Given the description of an element on the screen output the (x, y) to click on. 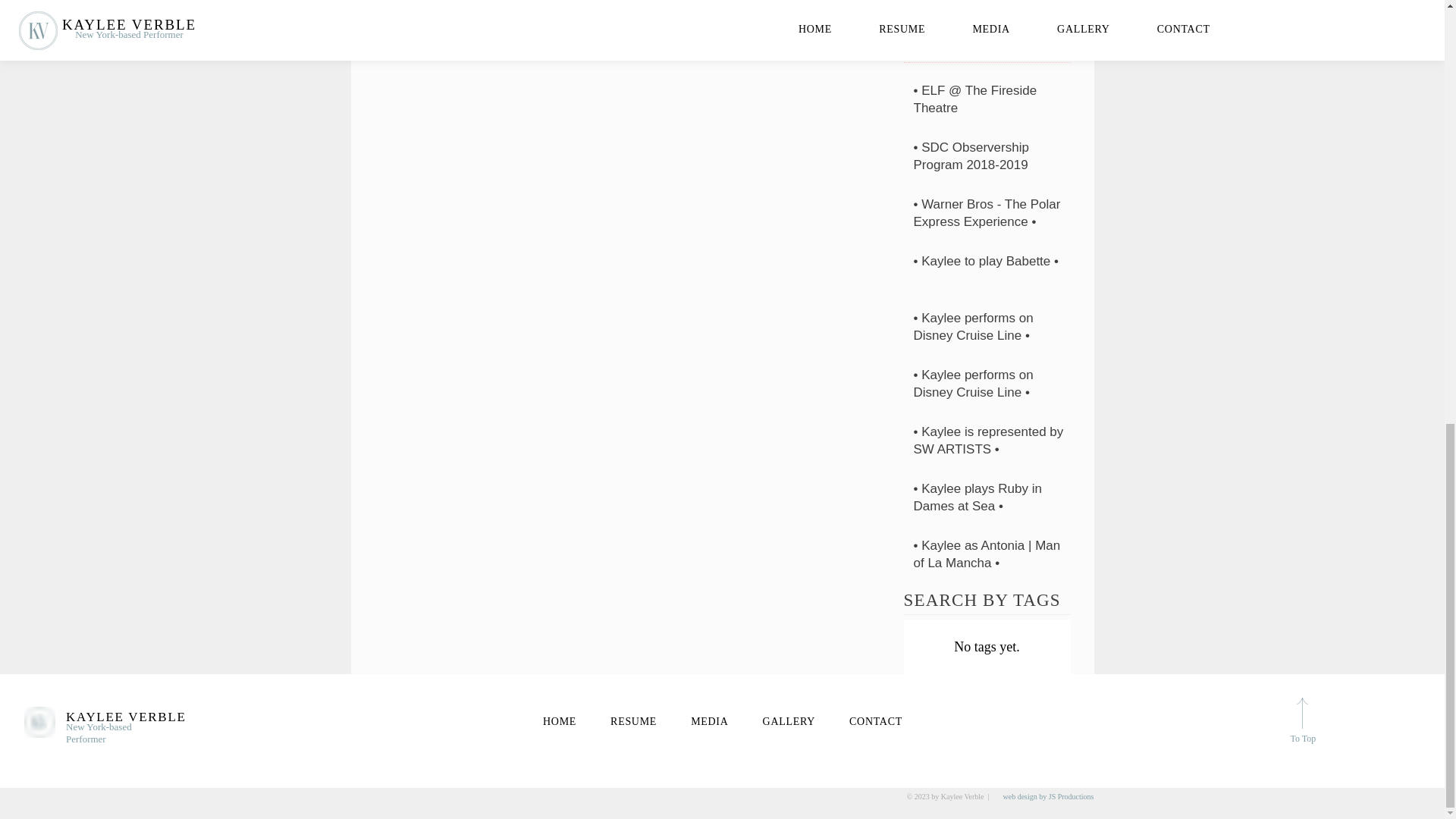
To Top (1303, 738)
GALLERY (788, 721)
RESUME (633, 721)
MEDIA (709, 721)
CONTACT (876, 721)
HOME (560, 721)
KAYLEE VERBLE (125, 716)
